Given the description of an element on the screen output the (x, y) to click on. 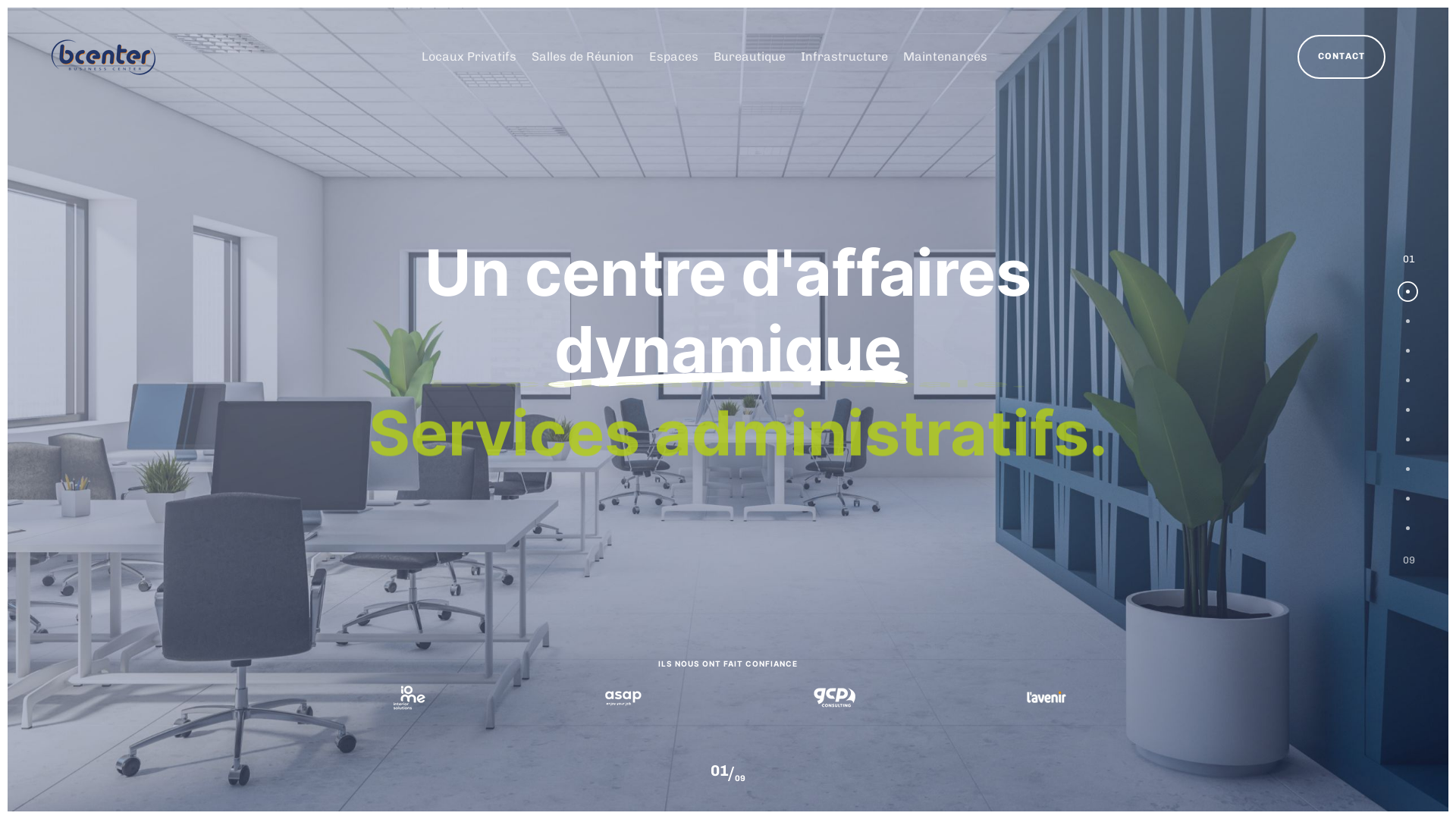
Maintenances Element type: text (944, 56)
Infrastructure Element type: text (844, 56)
C
O
N
T
A
C
T Element type: text (1341, 56)
Bureautique Element type: text (749, 56)
Locaux Privatifs Element type: text (469, 56)
Espaces Element type: text (673, 56)
